Given the description of an element on the screen output the (x, y) to click on. 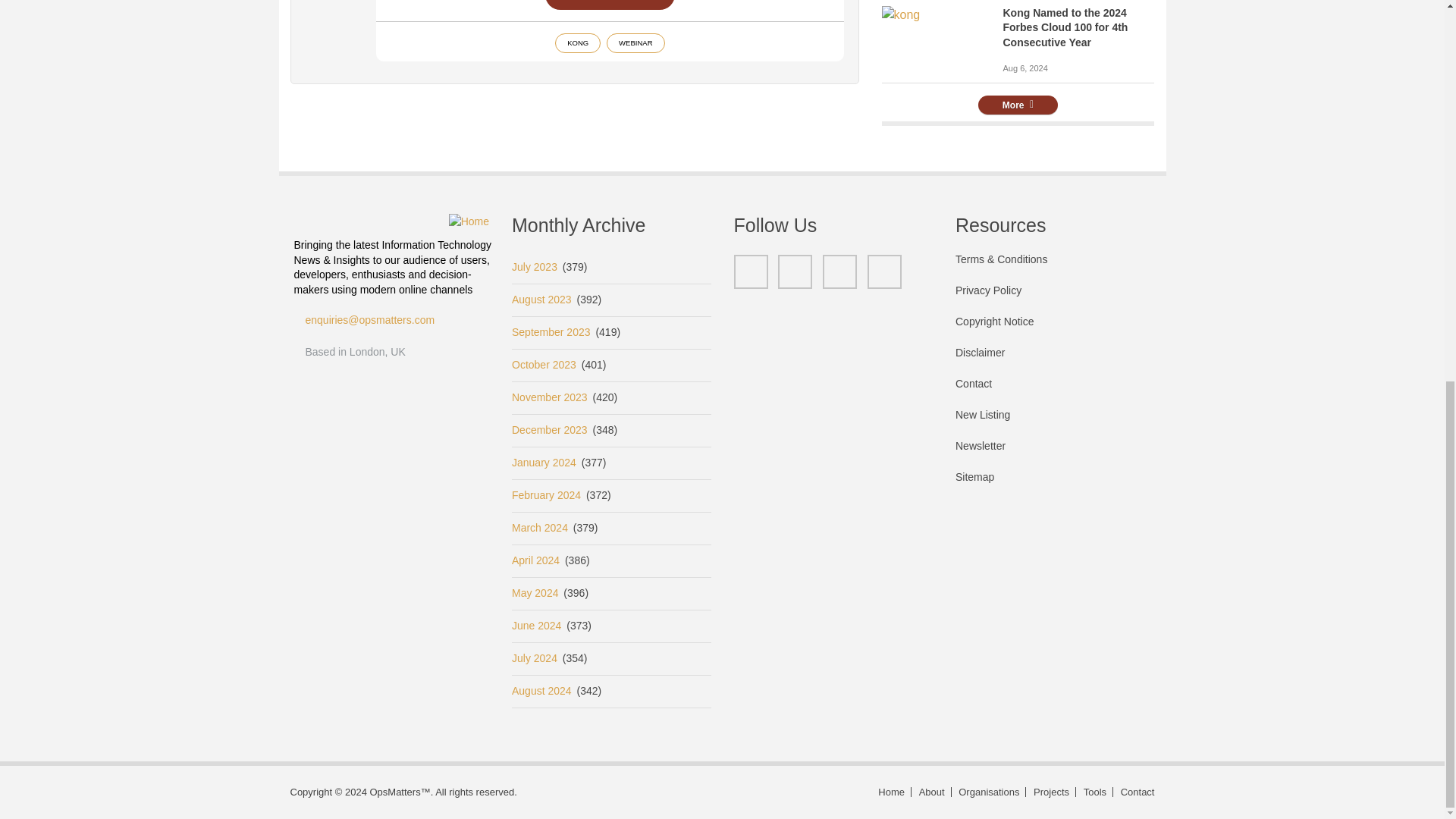
Takes you back to the homepage (892, 791)
Subscribe to our newsletter (1054, 453)
Home (468, 221)
KONG (576, 43)
Contact us (1135, 791)
WEBINAR (635, 43)
GO TO REGISTRATION (609, 4)
kong (900, 15)
